Given the description of an element on the screen output the (x, y) to click on. 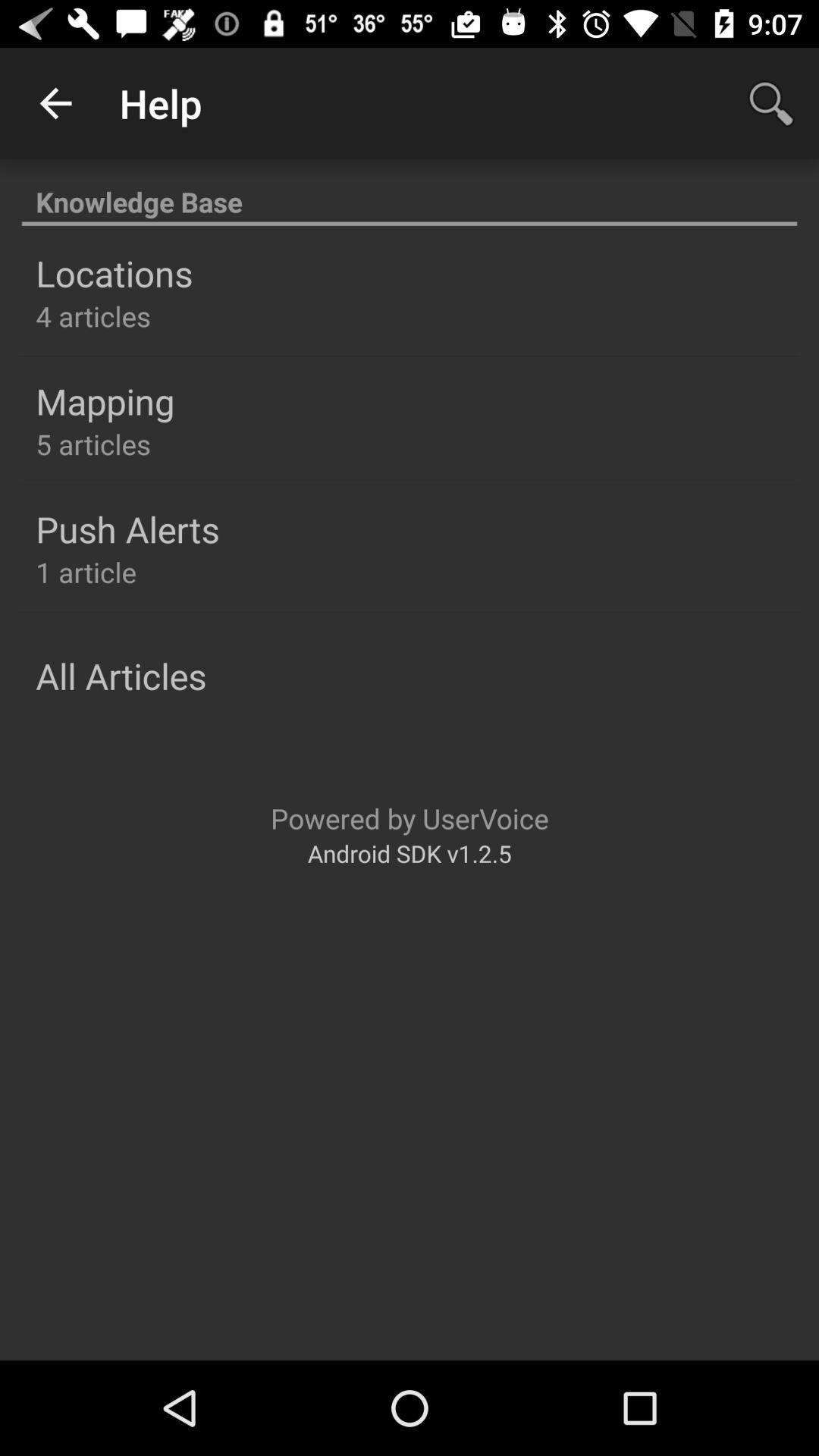
turn off the item above 4 articles icon (113, 273)
